Given the description of an element on the screen output the (x, y) to click on. 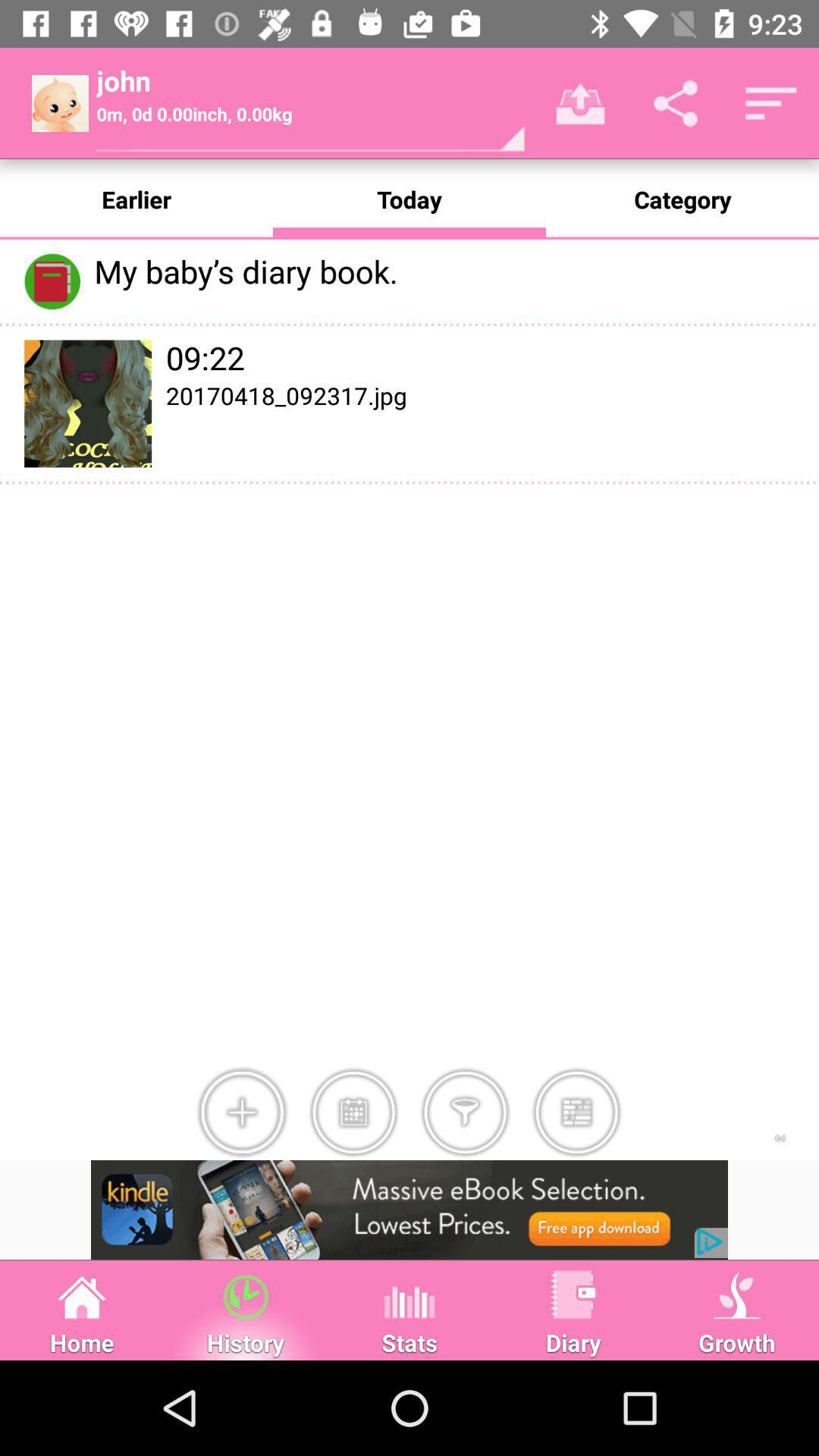
go to image above text dairy (573, 1294)
select the icon right to  icon (354, 1112)
select the icon on the top of growth text (737, 1294)
select the text which is right side of the diary book icon (452, 270)
take the icon left to my babys (52, 280)
